Given the description of an element on the screen output the (x, y) to click on. 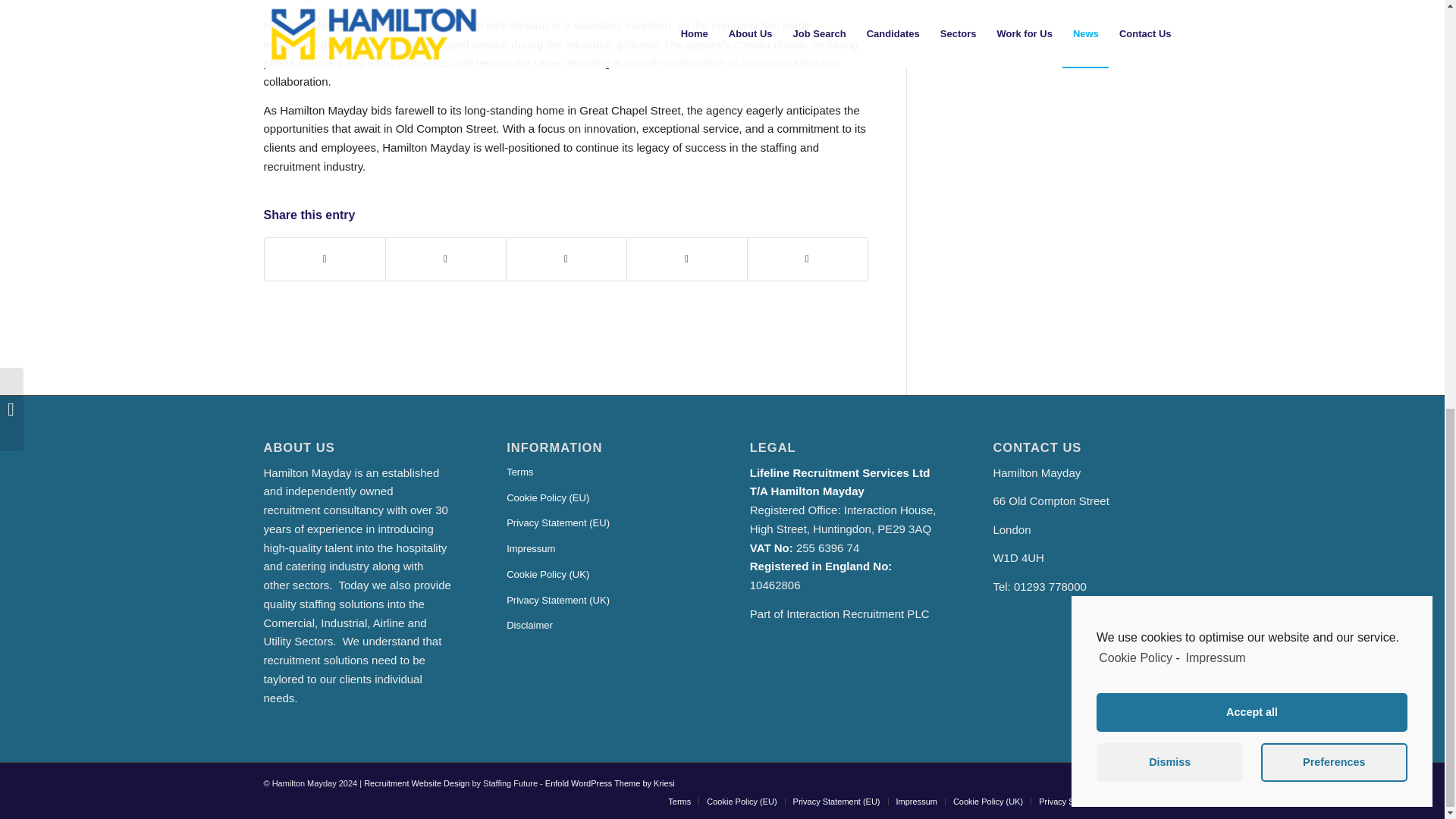
Disclaimer (1160, 800)
Enfold WordPress Theme by Kriesi (609, 782)
Disclaimer (600, 626)
Recruitment Website Design (416, 782)
Impressum (916, 800)
Impressum (600, 549)
Terms (679, 800)
Terms (600, 473)
